Given the description of an element on the screen output the (x, y) to click on. 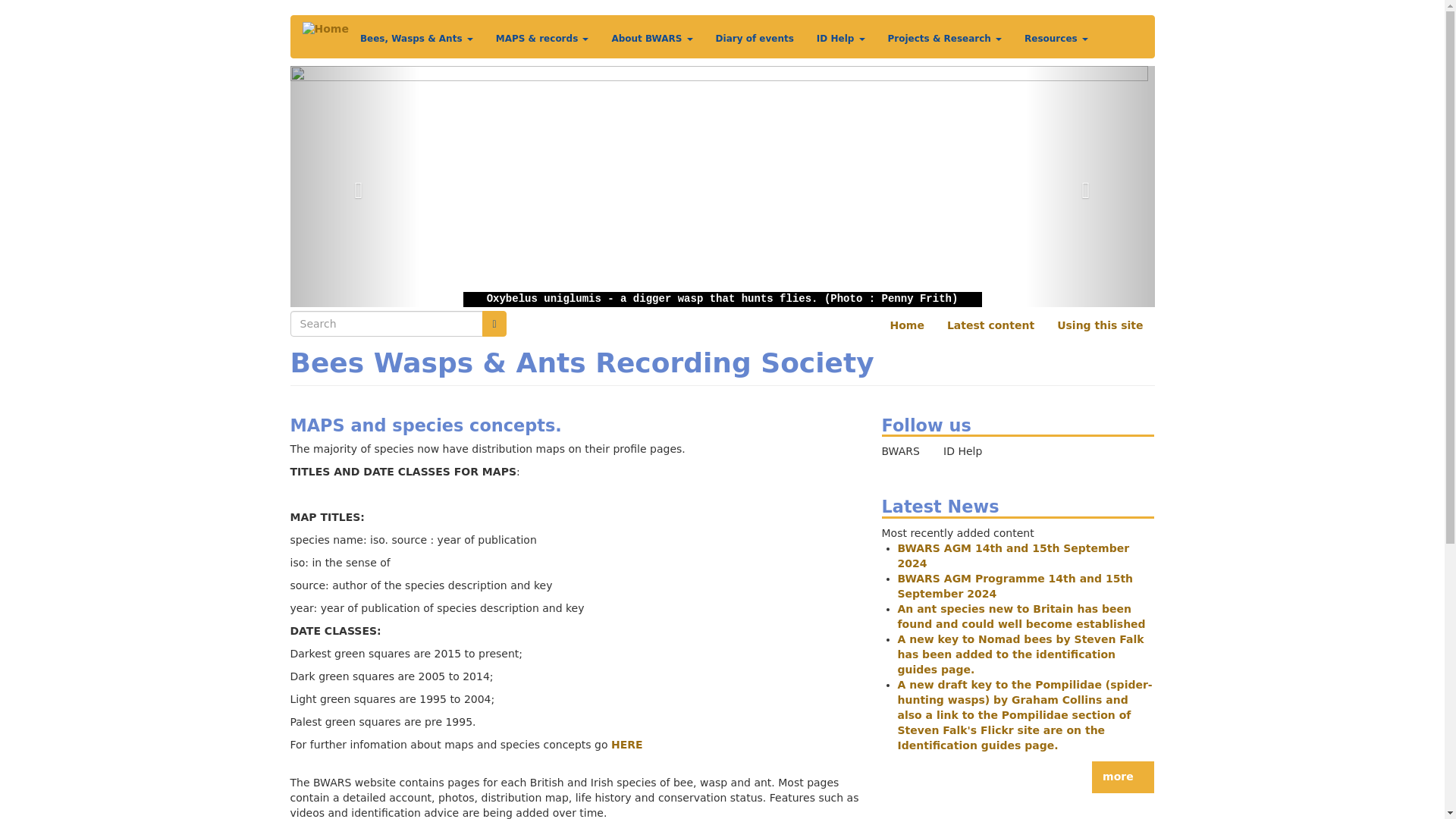
About BWARS (651, 38)
Home (324, 29)
Diary of events (754, 38)
ID Help (840, 38)
